Given the description of an element on the screen output the (x, y) to click on. 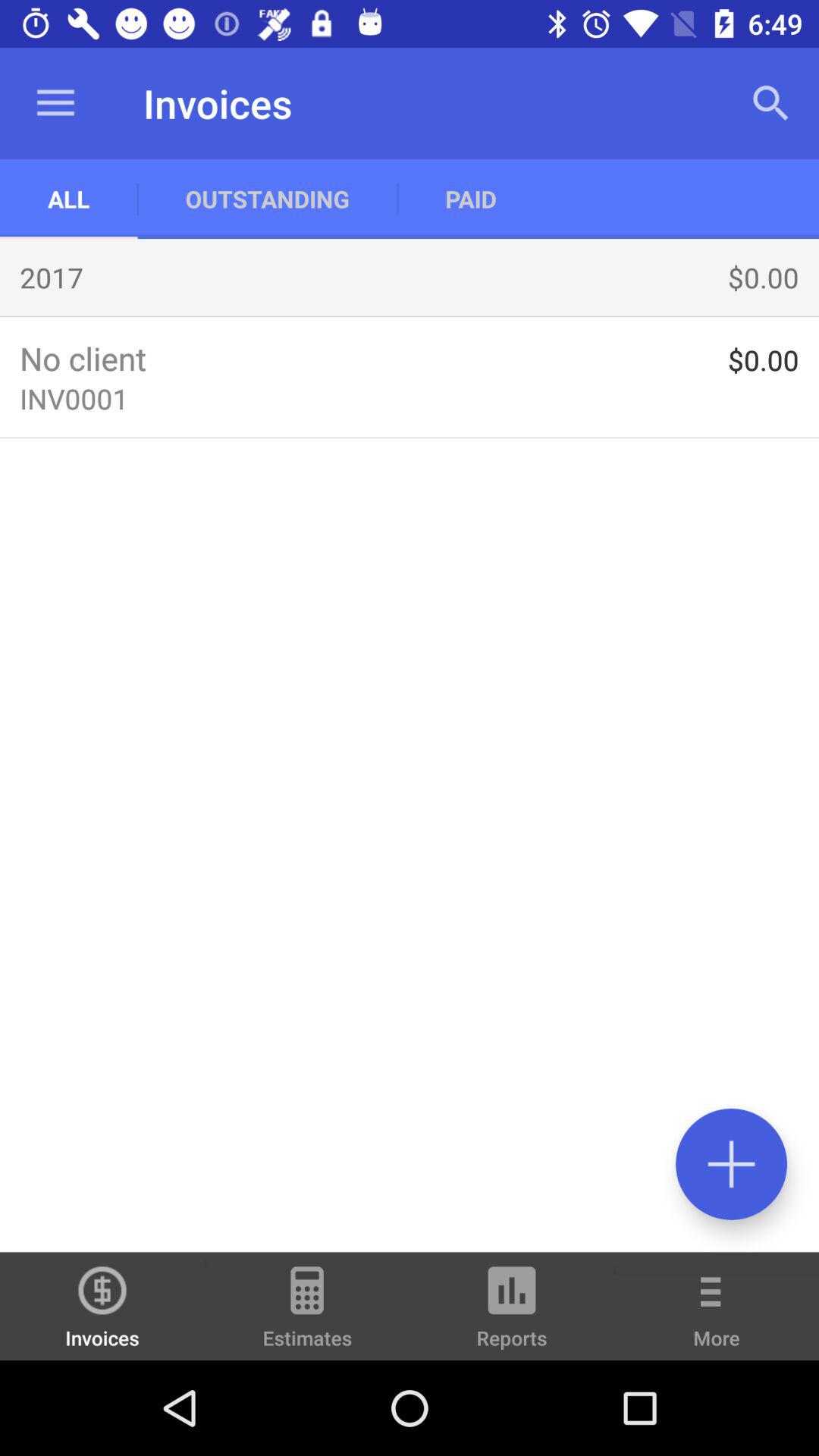
select paid item (470, 198)
